Given the description of an element on the screen output the (x, y) to click on. 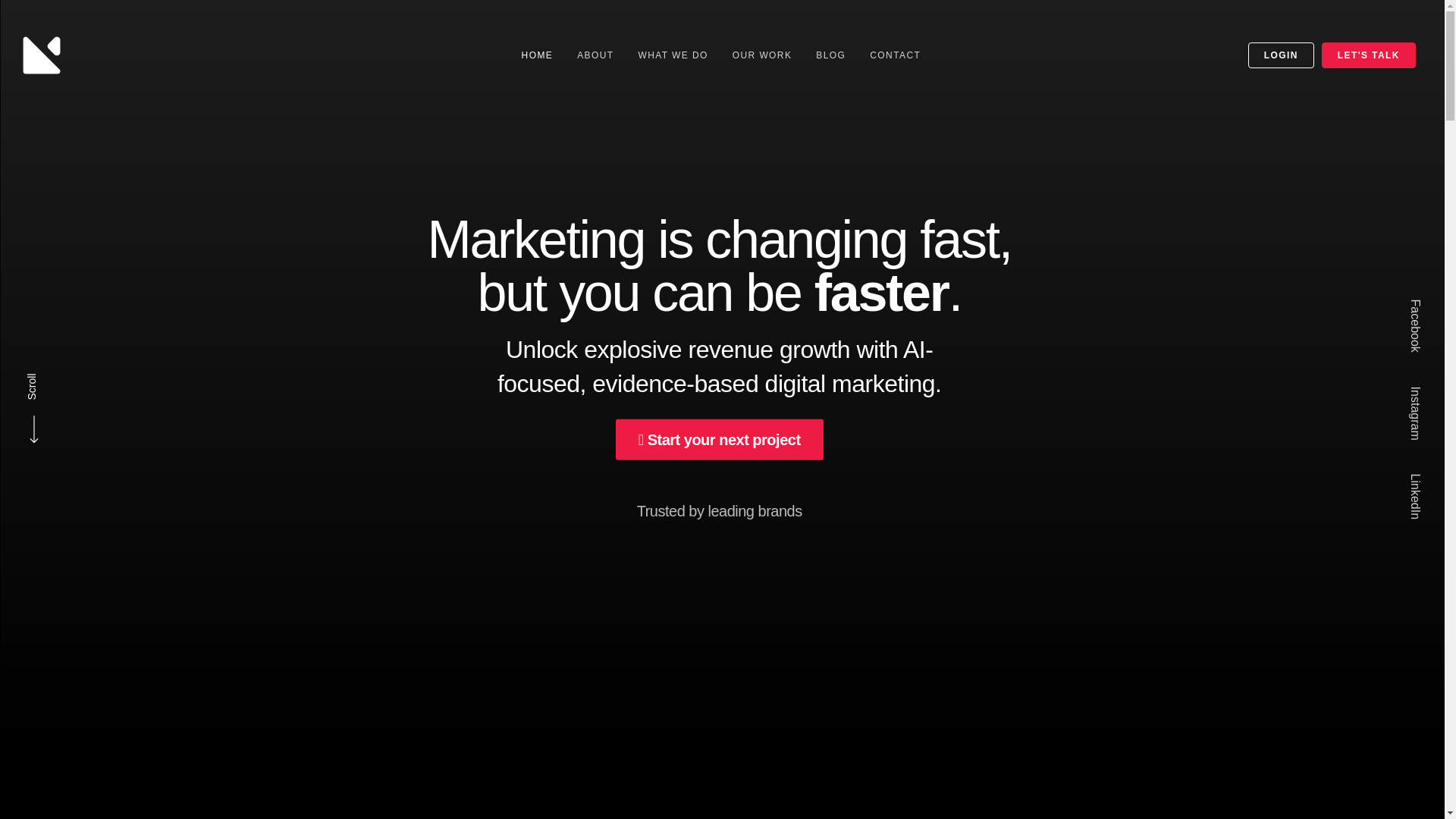
WHAT WE DO (673, 55)
CONTACT (895, 55)
Start your next project (719, 448)
BLOG (830, 55)
ABOUT (595, 55)
LOGIN (1280, 54)
LET'S TALK (1368, 54)
OUR WORK (762, 55)
HOME (537, 55)
